Given the description of an element on the screen output the (x, y) to click on. 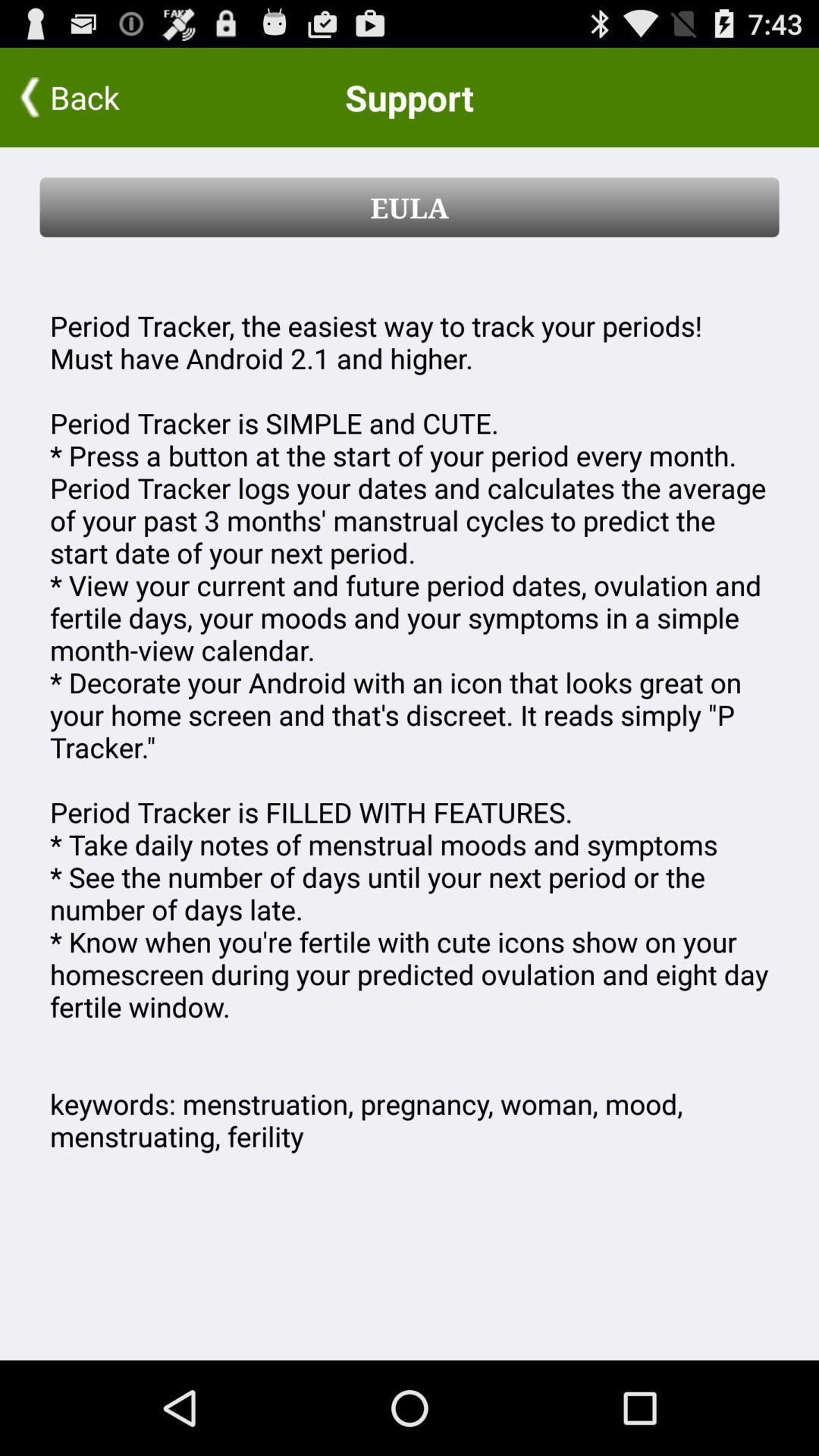
select the eula (409, 207)
